Given the description of an element on the screen output the (x, y) to click on. 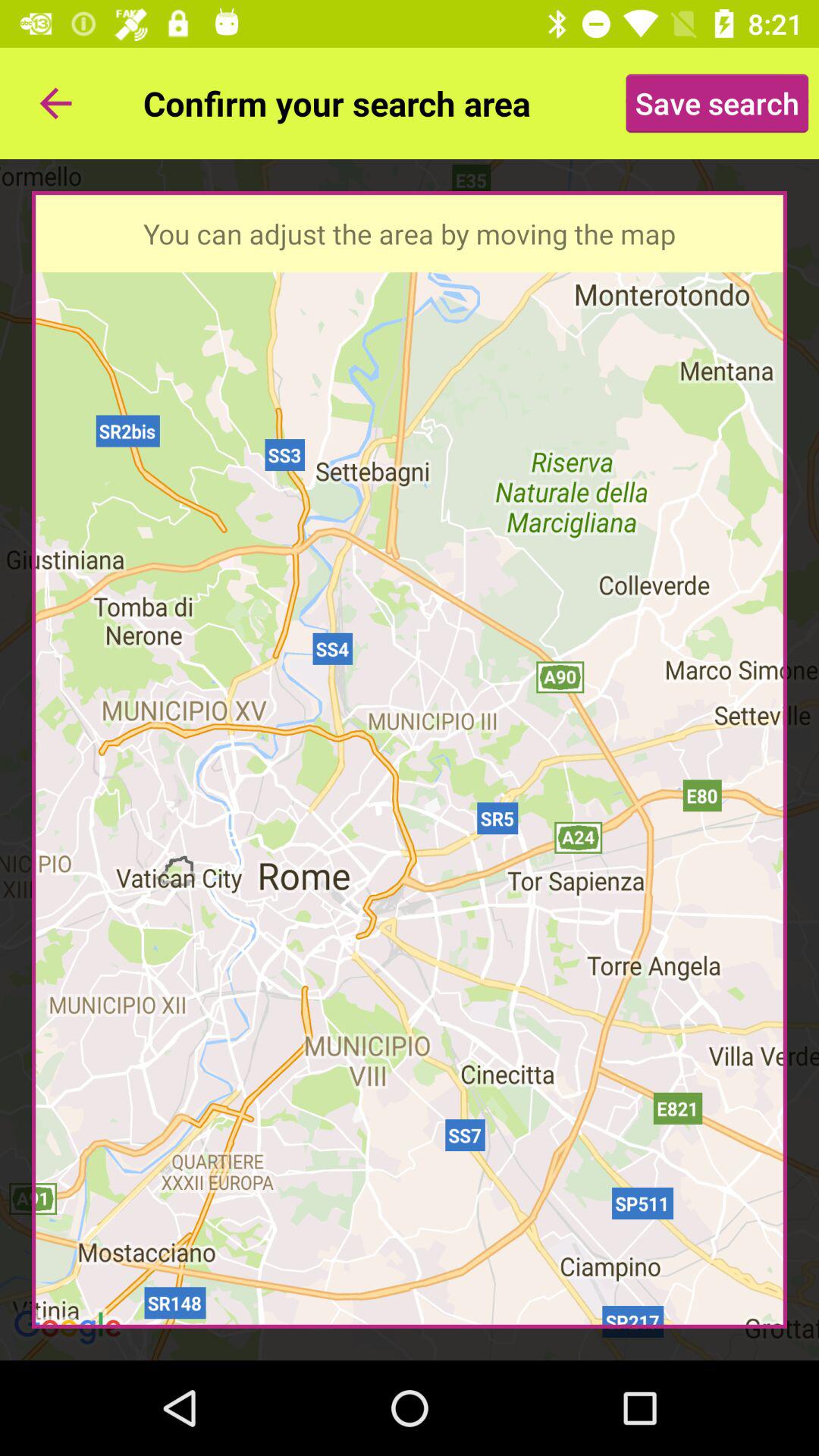
swipe until the save search icon (717, 103)
